Given the description of an element on the screen output the (x, y) to click on. 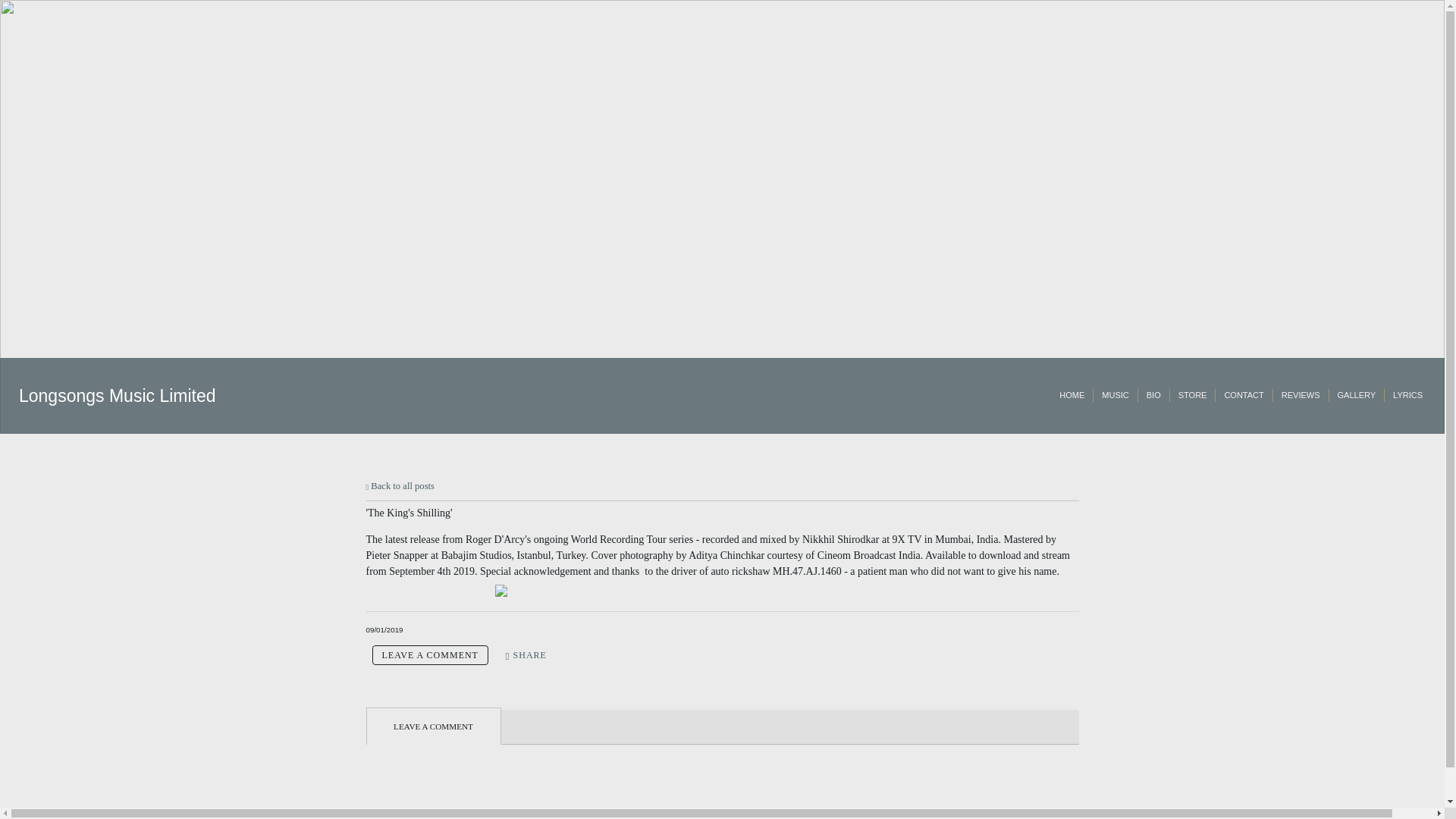
LEAVE A COMMENT (429, 655)
September 01, 2019 19:07 (384, 629)
LYRICS (1407, 395)
BIO (1153, 395)
Back to all posts (399, 485)
HOME (1071, 395)
CONTACT (1243, 395)
MUSIC (1115, 395)
REVIEWS (1300, 395)
SHARE (526, 655)
Share 'The King's Shilling'  (526, 655)
GALLERY (1356, 395)
Longsongs Music Limited (116, 394)
Leave a comment (429, 655)
STORE (1192, 395)
